Given the description of an element on the screen output the (x, y) to click on. 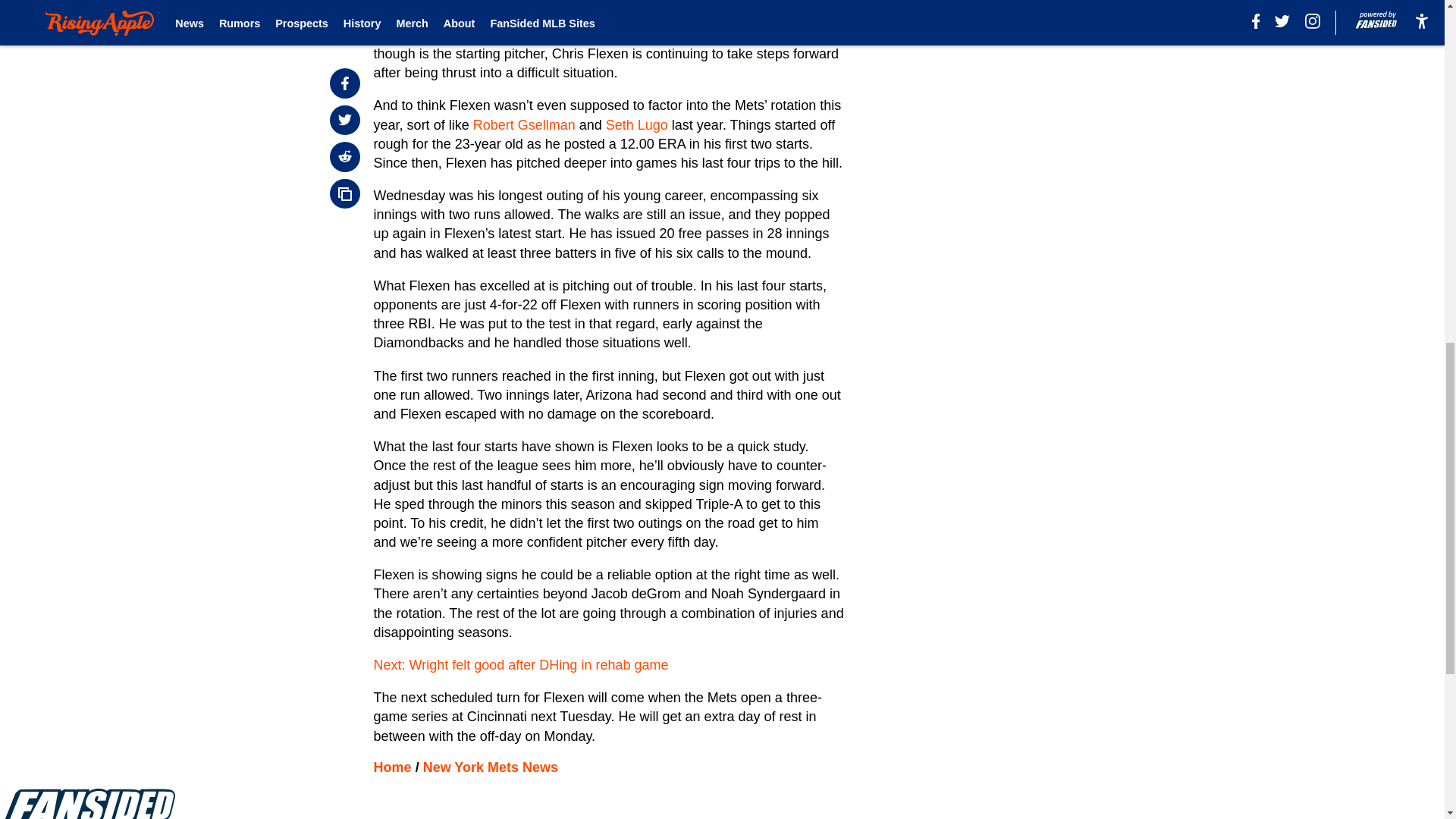
Robert Gsellman (524, 124)
Seth Lugo (636, 124)
Home (393, 767)
Next: Wright felt good after DHing in rehab game (521, 664)
New York Mets News (490, 767)
